Given the description of an element on the screen output the (x, y) to click on. 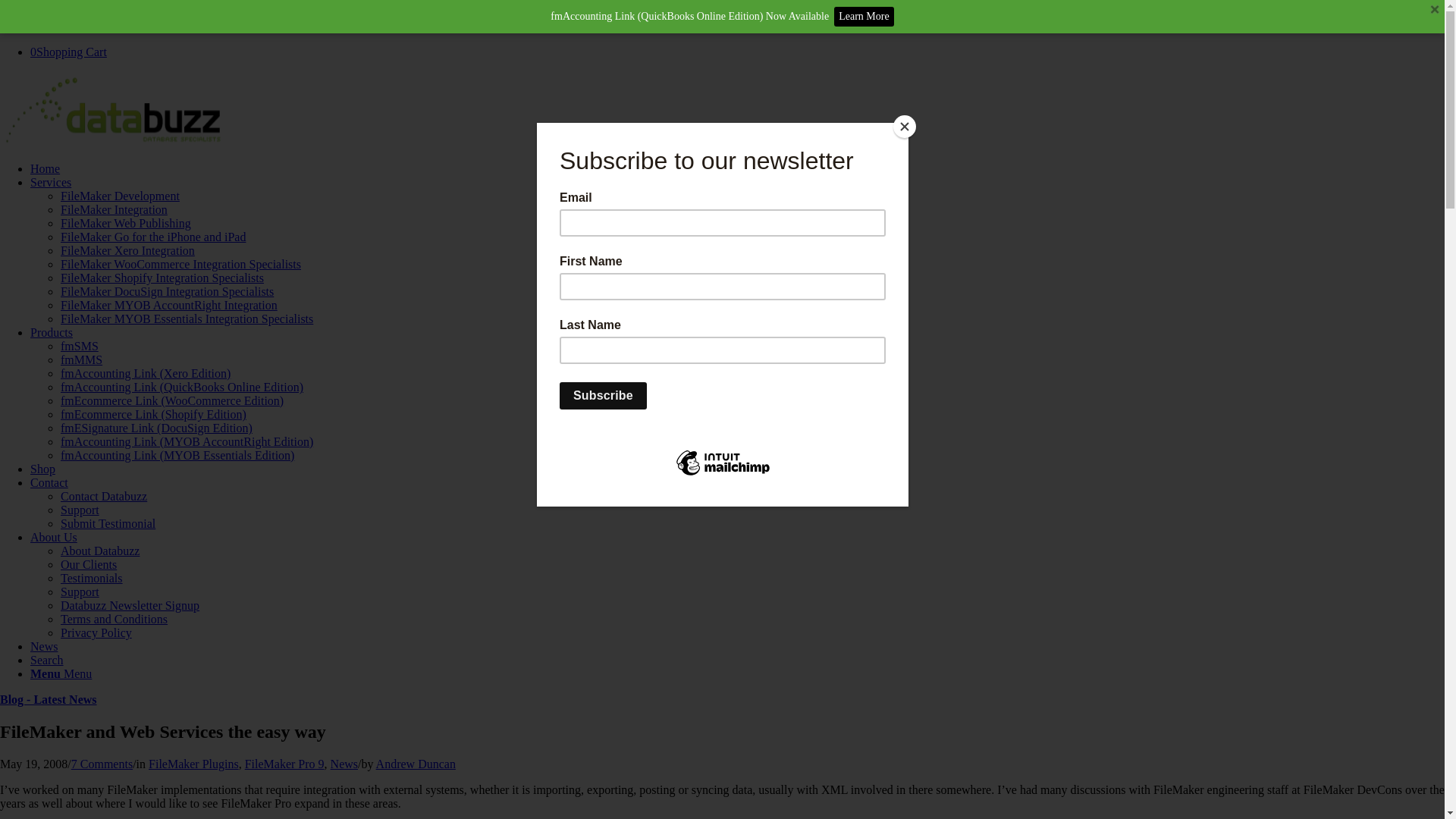
Contact Element type: text (49, 482)
Support Element type: text (79, 591)
Home Element type: text (44, 168)
News Element type: text (343, 763)
FileMaker MYOB AccountRight Integration Element type: text (168, 304)
Support Element type: text (79, 509)
FileMaker WooCommerce Integration Specialists Element type: text (180, 263)
Menu Menu Element type: text (60, 673)
FileMaker MYOB Essentials Integration Specialists Element type: text (186, 318)
FileMaker Integration Element type: text (113, 209)
Andrew Duncan Element type: text (415, 763)
fmESignature Link (DocuSign Edition) Element type: text (156, 427)
FileMaker Web Publishing Element type: text (125, 222)
Services Element type: text (50, 181)
0Shopping Cart Element type: text (68, 51)
fmAccounting Link (QuickBooks Online Edition) Element type: text (181, 386)
FileMaker Go for the iPhone and iPad Element type: text (152, 236)
FileMaker DocuSign Integration Specialists Element type: text (166, 291)
fmAccounting Link (MYOB AccountRight Edition) Element type: text (186, 441)
Databuzz Newsletter Signup Element type: text (129, 605)
fmEcommerce Link (WooCommerce Edition) Element type: text (171, 400)
Search Element type: text (46, 659)
Products Element type: text (51, 332)
FileMaker Shopify Integration Specialists Element type: text (161, 277)
FileMaker Development Element type: text (119, 195)
fmAccounting Link (Xero Edition) Element type: text (145, 373)
Contact Databuzz Element type: text (103, 495)
About Databuzz Element type: text (99, 550)
Testimonials Element type: text (91, 577)
About Us Element type: text (53, 536)
FileMaker Xero Integration Element type: text (127, 250)
fmAccounting Link (MYOB Essentials Edition) Element type: text (177, 454)
Submit Testimonial Element type: text (107, 523)
Shop Element type: text (42, 468)
fmEcommerce Link (Shopify Edition) Element type: text (153, 413)
fmSMS Element type: text (79, 345)
News Element type: text (43, 646)
7 Comments Element type: text (101, 763)
Blog - Latest News Element type: text (48, 699)
fmMMS Element type: text (81, 359)
Our Clients Element type: text (88, 564)
Privacy Policy Element type: text (95, 632)
Learn More Element type: text (863, 16)
Terms and Conditions Element type: text (113, 618)
FileMaker Pro 9 Element type: text (284, 763)
FileMaker Plugins Element type: text (193, 763)
